Given the description of an element on the screen output the (x, y) to click on. 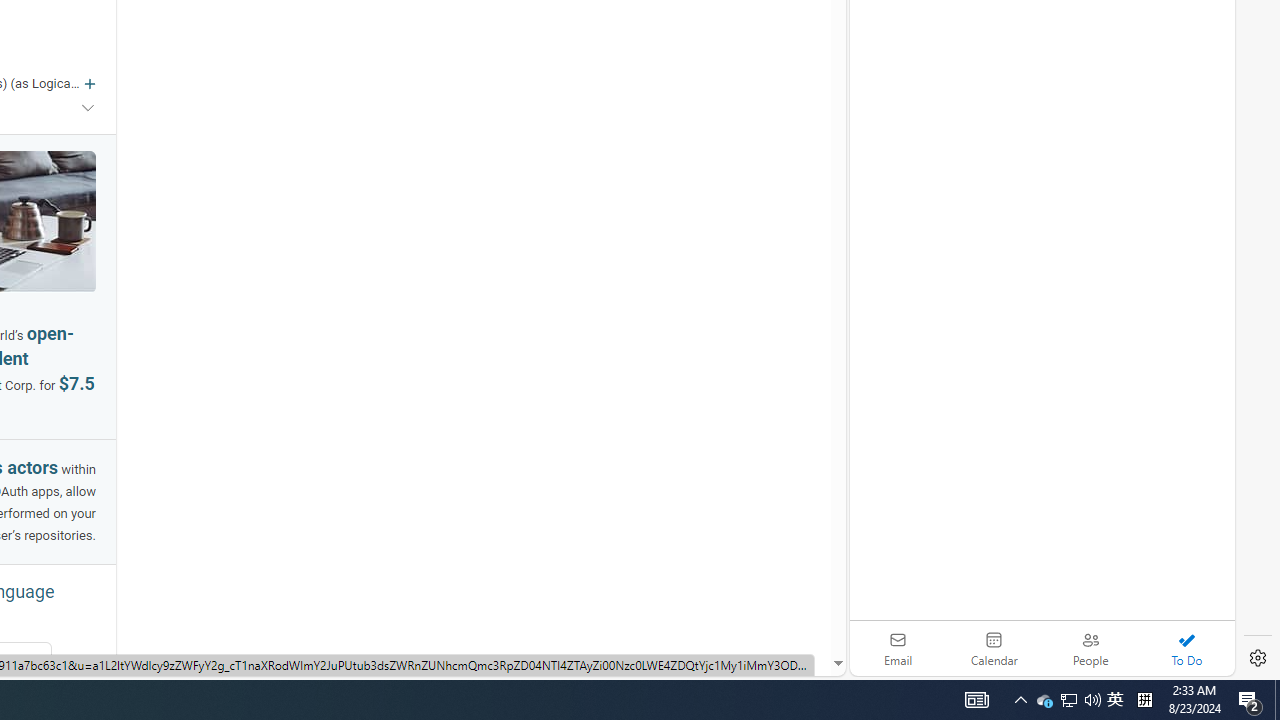
AutomationID: mfa_root (762, 603)
To Do (1186, 648)
People (1090, 648)
Email (898, 648)
Search more (792, 604)
Calendar. Date today is 22 (994, 648)
